Given the description of an element on the screen output the (x, y) to click on. 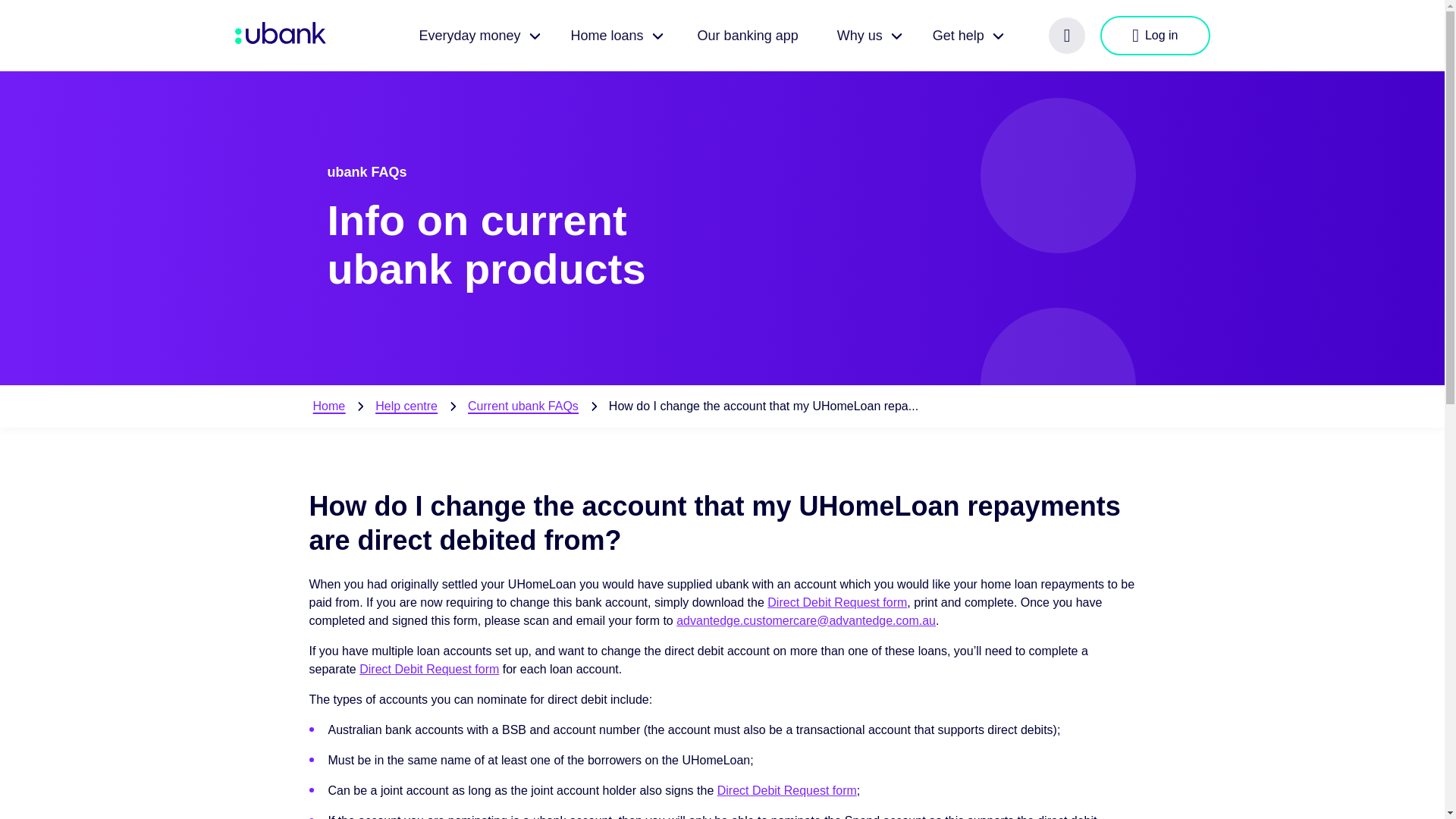
Everyday money (476, 35)
Why us (867, 35)
Home loans (615, 35)
Log in (1154, 35)
Our banking app (747, 35)
Get help (965, 35)
